Given the description of an element on the screen output the (x, y) to click on. 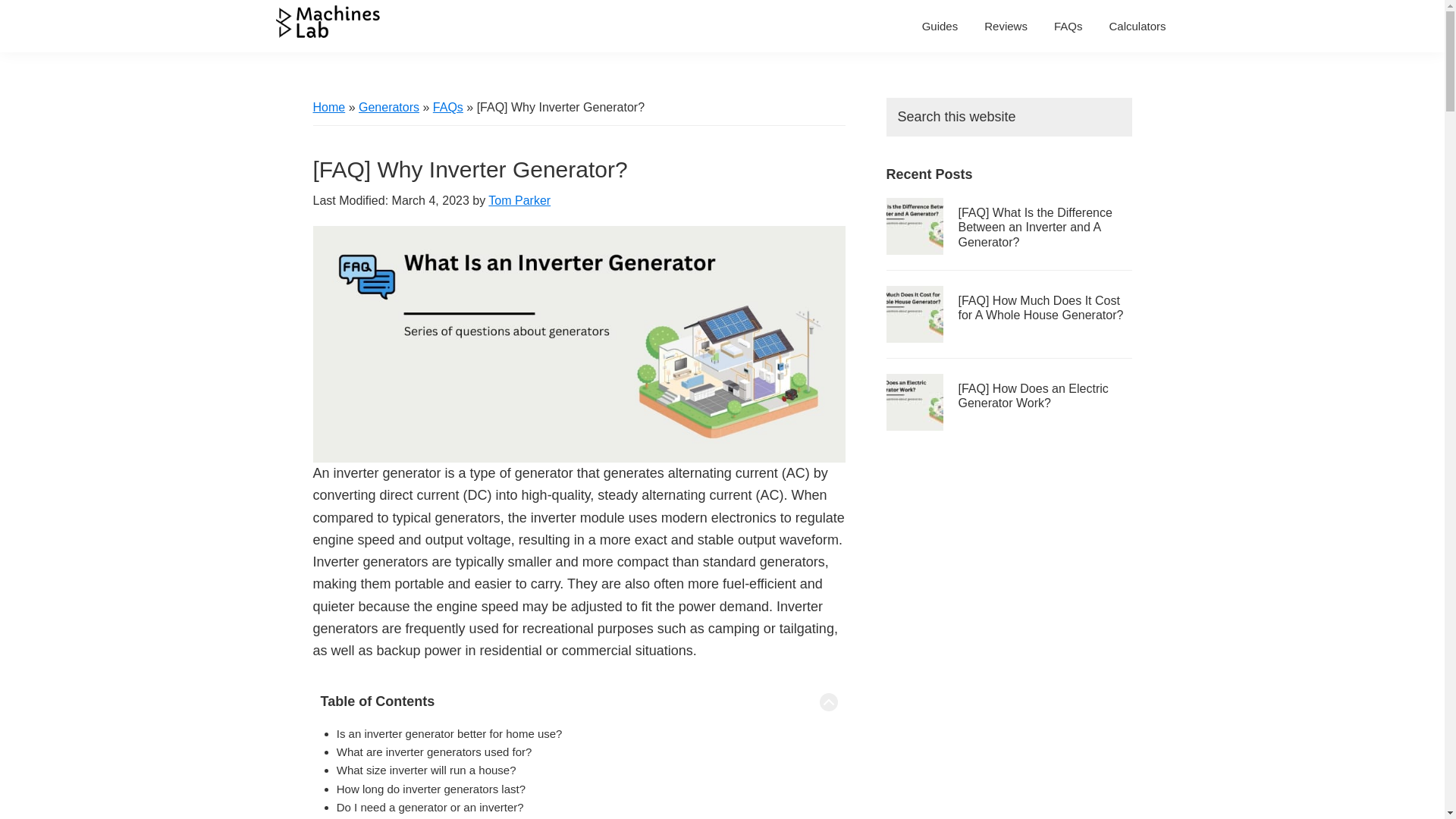
What size inverter will run a house? (426, 769)
Guides (940, 25)
Reviews (1005, 25)
Home (329, 106)
Do I need a generator or an inverter? (430, 807)
What are inverter generators used for? (434, 751)
Generators (388, 106)
Tom Parker (518, 200)
FAQs (447, 106)
